Given the description of an element on the screen output the (x, y) to click on. 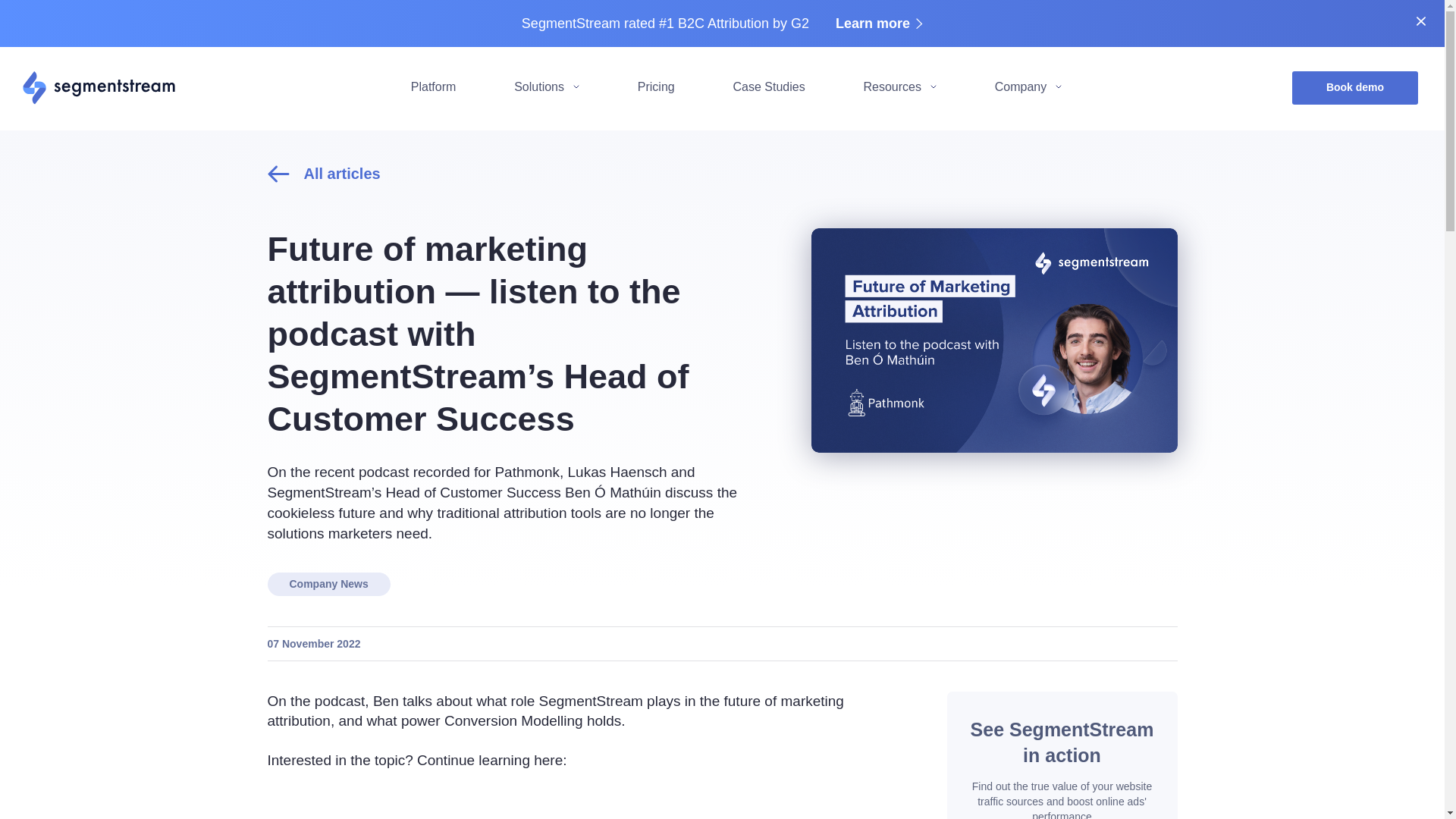
Pricing (656, 85)
Platform (433, 85)
YouTube video player (572, 804)
Solutions (546, 85)
Resources (899, 85)
Case Studies (768, 85)
